Given the description of an element on the screen output the (x, y) to click on. 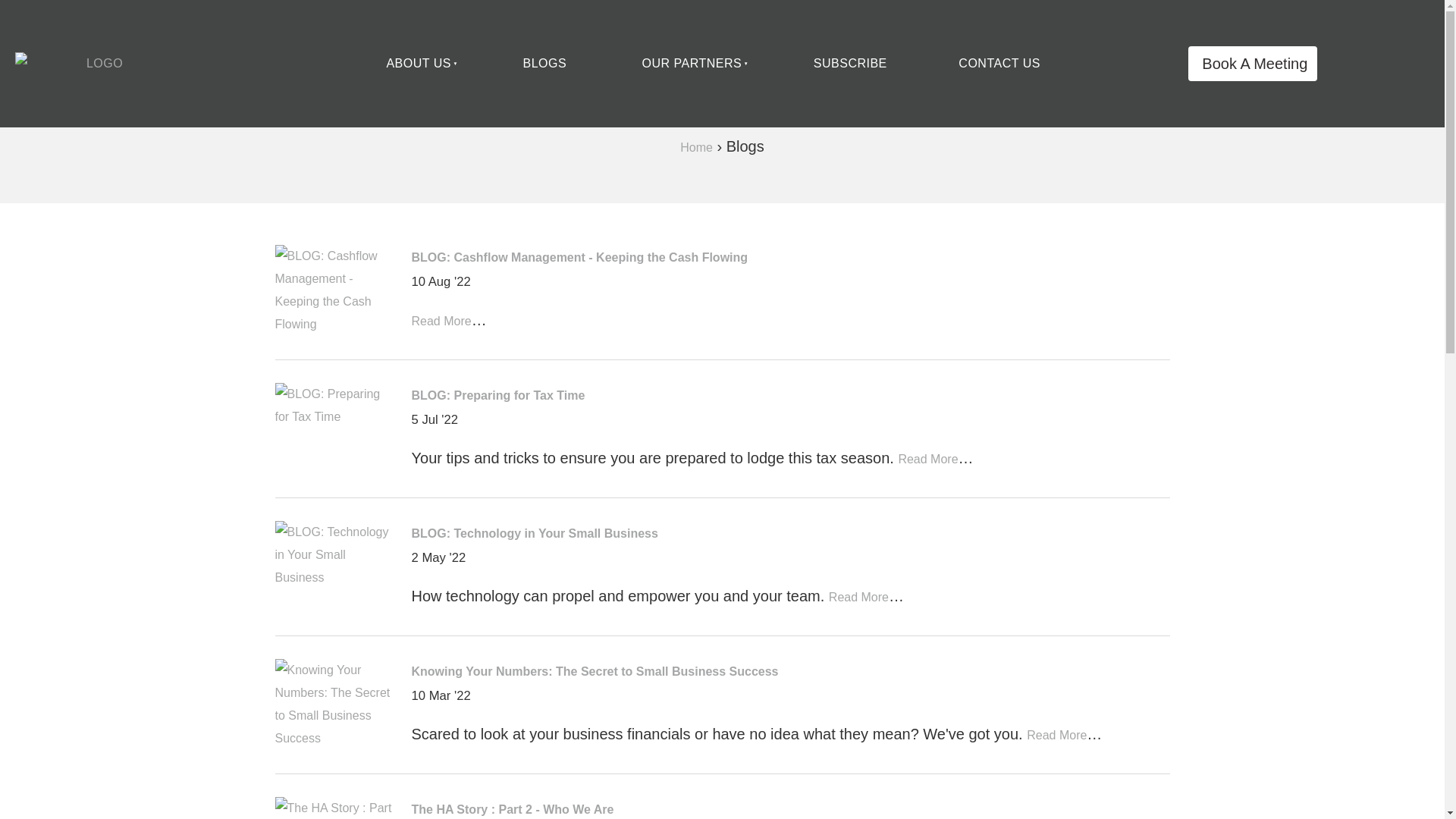
BLOG: Technology in Your Small Business (534, 533)
Read More (1056, 735)
BLOG: Cashflow Management - Keeping the Cash Flowing (579, 256)
The HA Story : Part 2 - Who We Are (511, 809)
BLOG: Preparing for Tax Time (497, 395)
BOOK A MEETING (1252, 63)
BLOGS (544, 63)
SUBSCRIBE (850, 63)
Read More (440, 320)
Read More (928, 459)
